Given the description of an element on the screen output the (x, y) to click on. 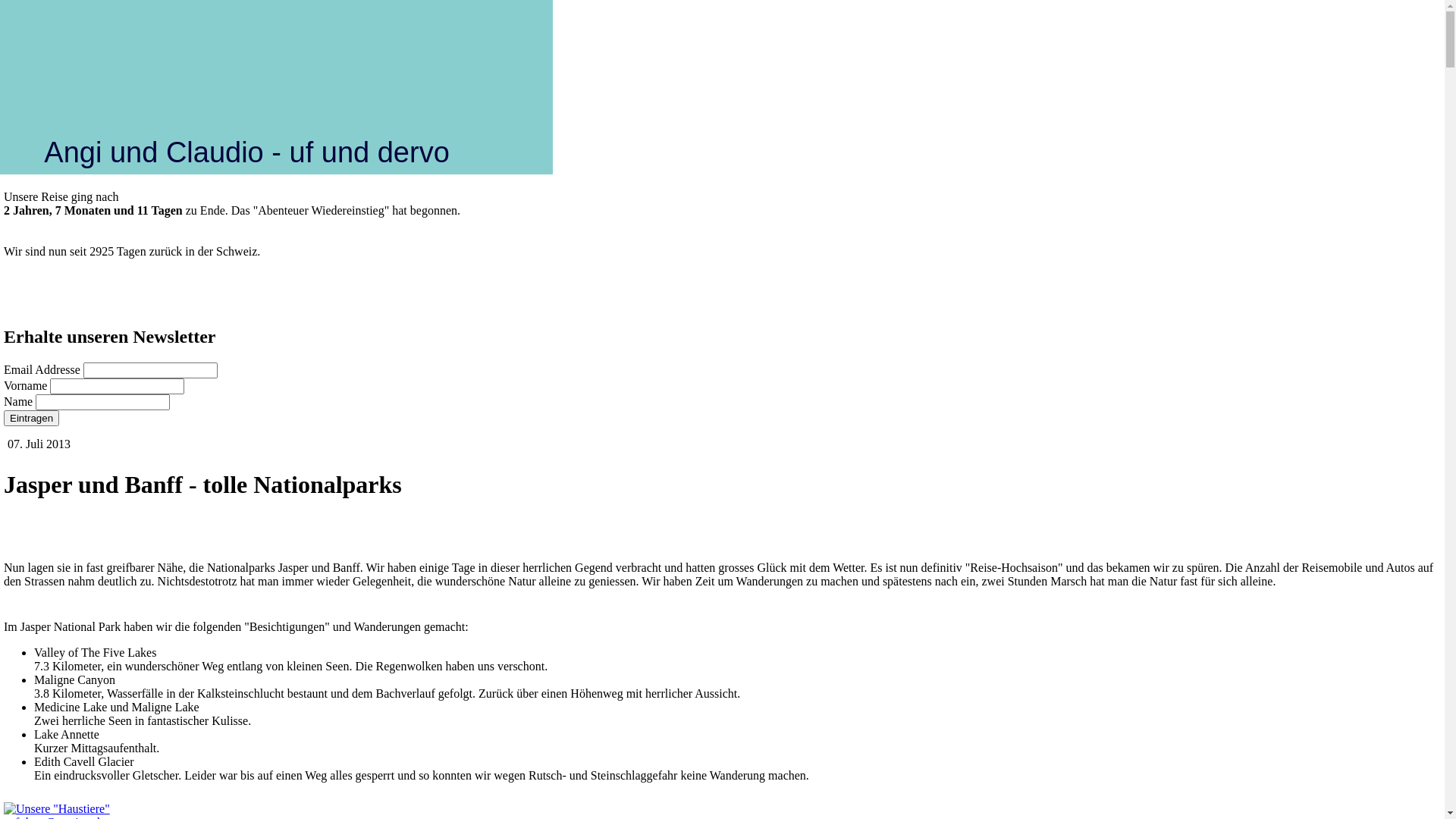
Eintragen Element type: text (31, 418)
